Given the description of an element on the screen output the (x, y) to click on. 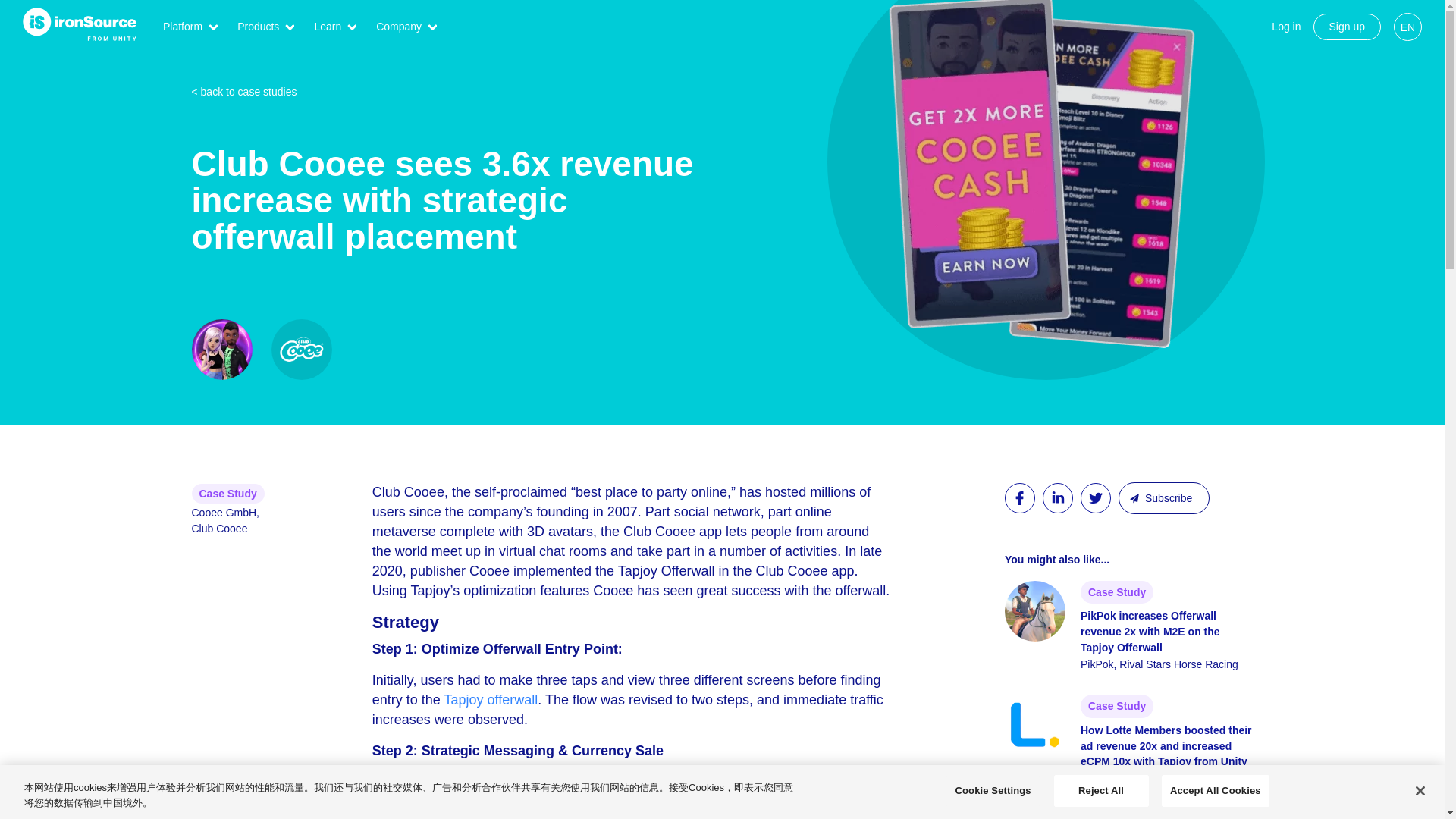
Iron Source (79, 22)
Platform (182, 26)
hide-side (1347, 26)
